Given the description of an element on the screen output the (x, y) to click on. 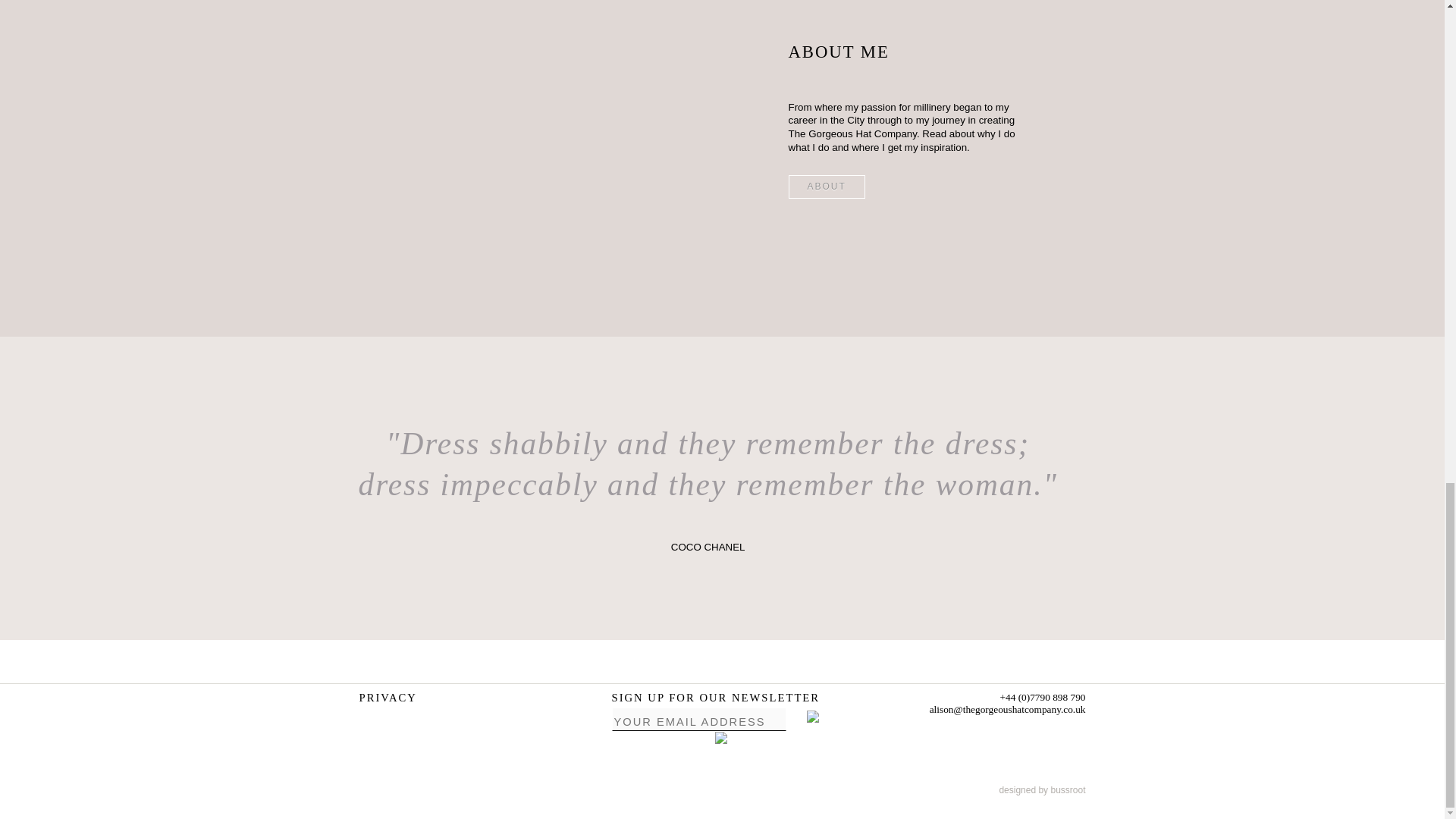
bussroot (1066, 789)
PRIVACY (387, 697)
instagram account (720, 736)
ABOUT (826, 187)
